Given the description of an element on the screen output the (x, y) to click on. 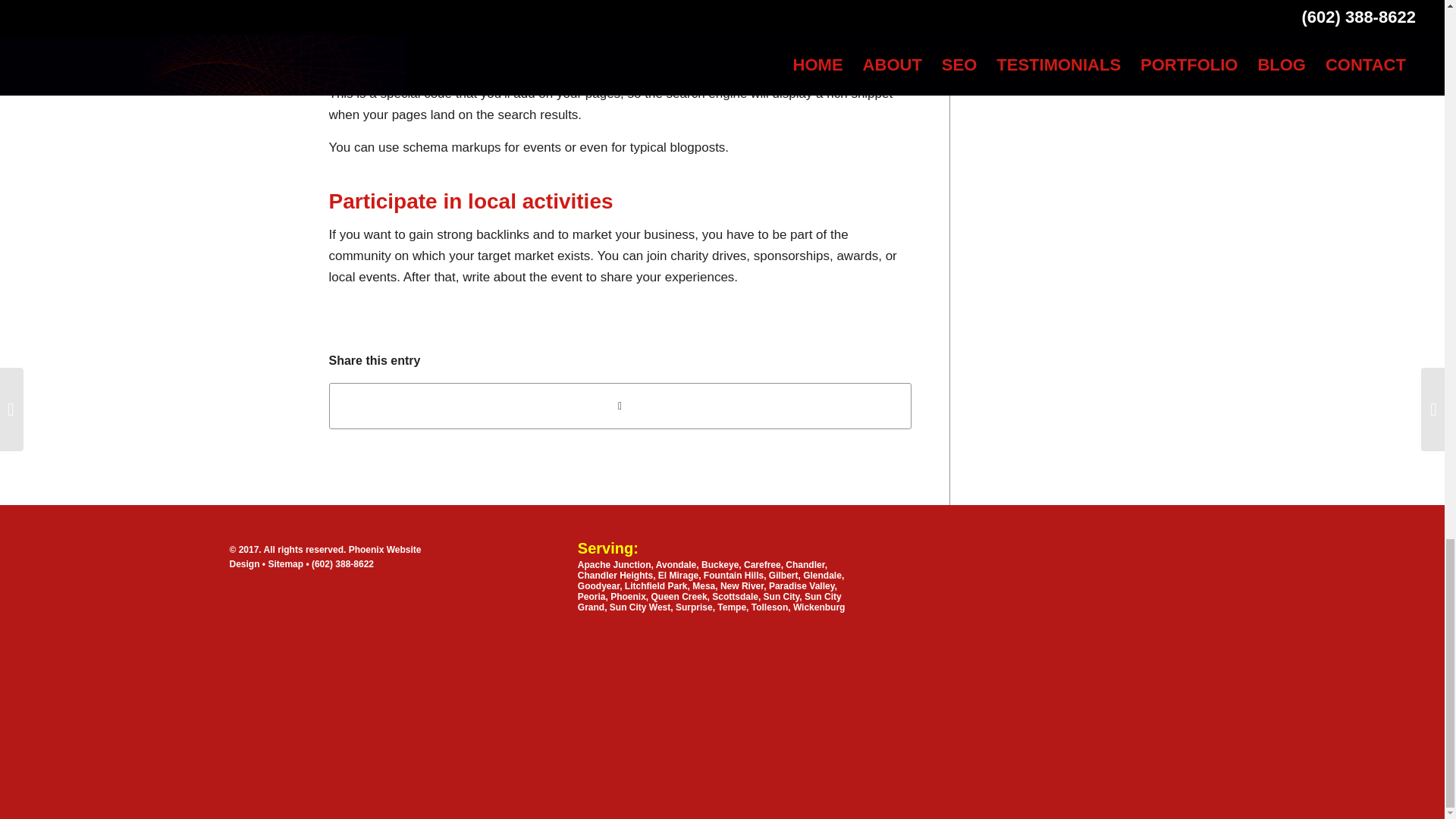
Sitemap  (286, 563)
Phoenix Web Design (312, 600)
Phoenix Website Design (324, 556)
